Given the description of an element on the screen output the (x, y) to click on. 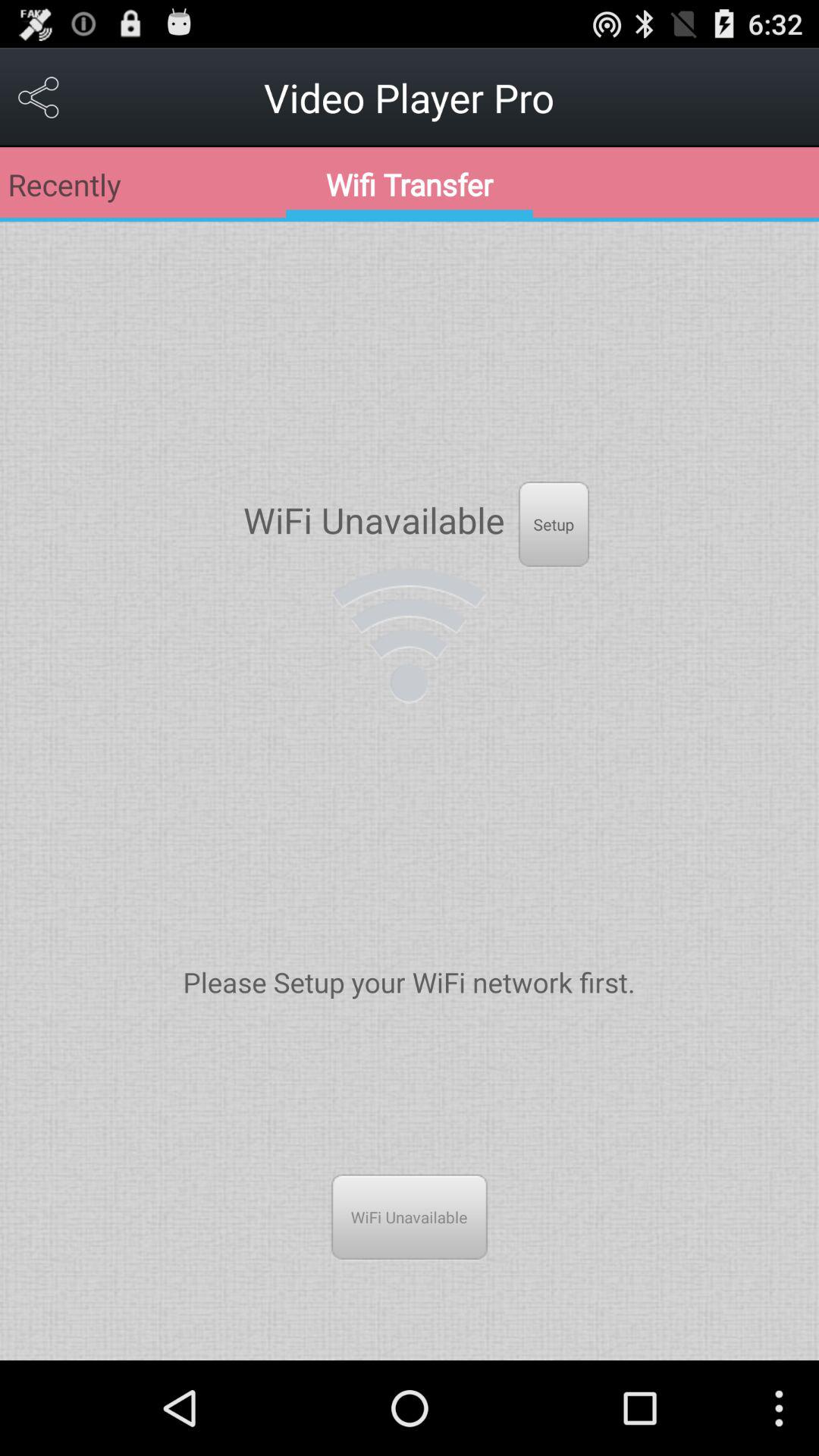
wifi logo (409, 635)
